Given the description of an element on the screen output the (x, y) to click on. 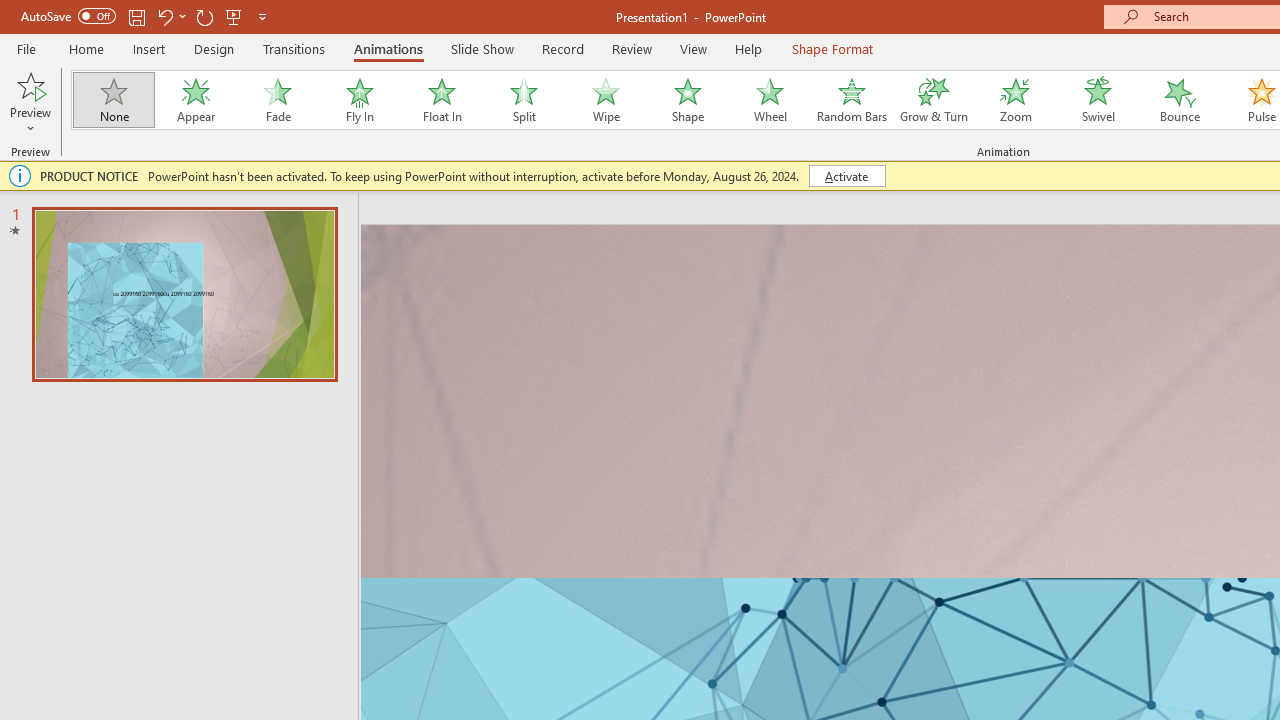
Shape Format (832, 48)
Preview (30, 84)
Float In (441, 100)
Bounce (1180, 100)
